Given the description of an element on the screen output the (x, y) to click on. 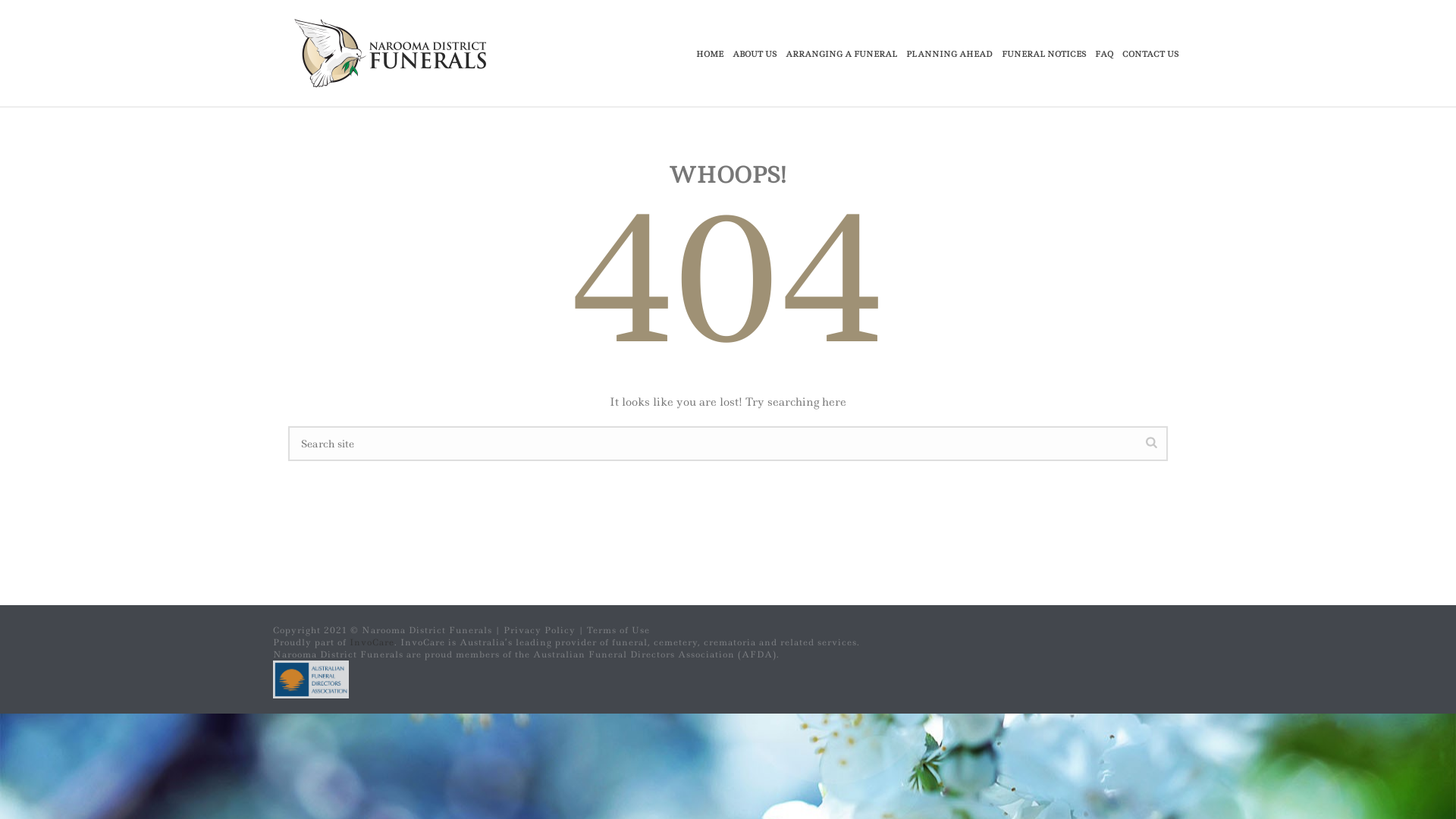
Terms of Use Element type: text (617, 630)
FUNERAL NOTICES Element type: text (1043, 53)
HOME Element type: text (709, 53)
InvoCare Element type: text (371, 642)
ABOUT US Element type: text (754, 53)
PLANNING AHEAD Element type: text (949, 53)
CONTACT US Element type: text (1150, 53)
ARRANGING A FUNERAL Element type: text (841, 53)
Privacy Policy Element type: text (539, 630)
FAQ Element type: text (1103, 53)
